Given the description of an element on the screen output the (x, y) to click on. 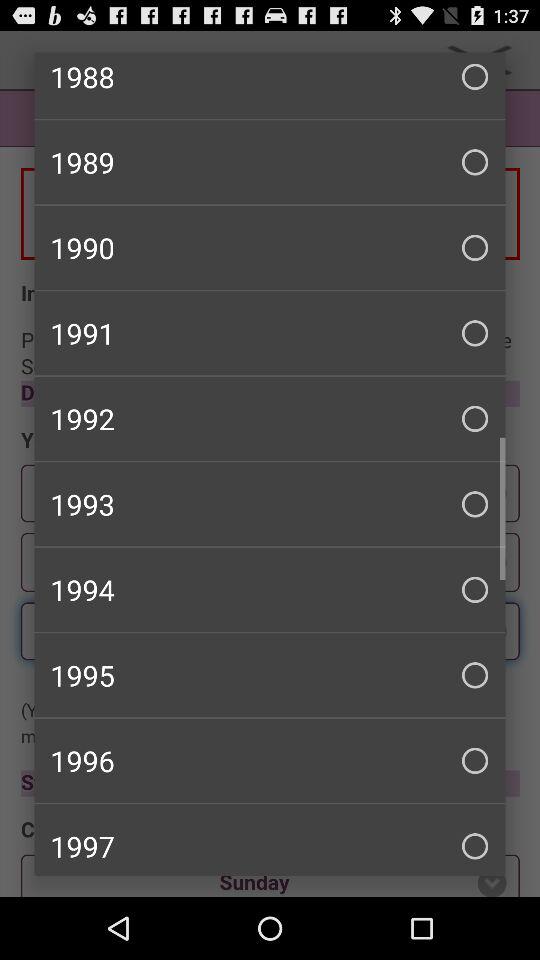
scroll until the 1989 (269, 162)
